Given the description of an element on the screen output the (x, y) to click on. 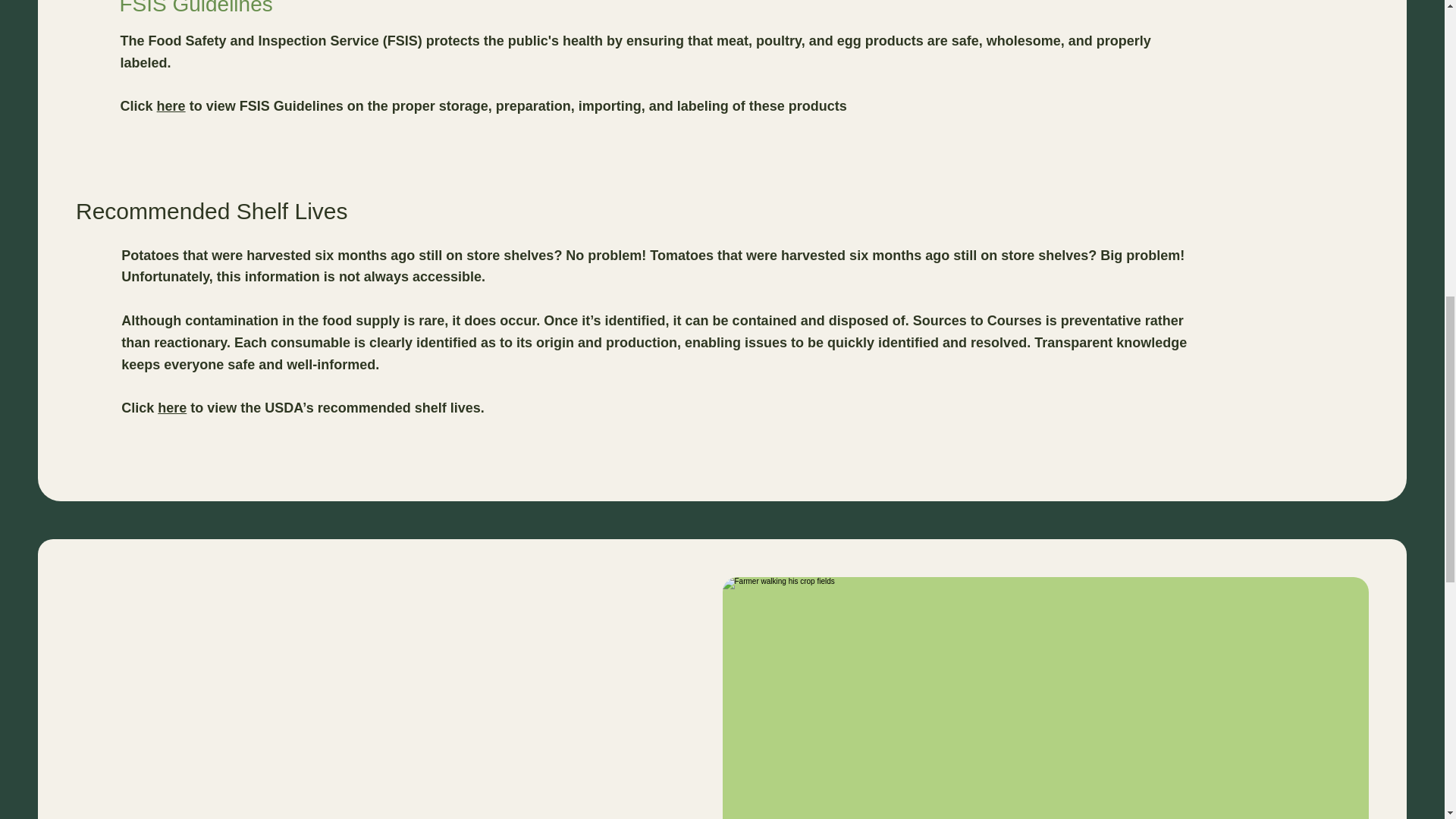
here (171, 105)
here (171, 407)
